Given the description of an element on the screen output the (x, y) to click on. 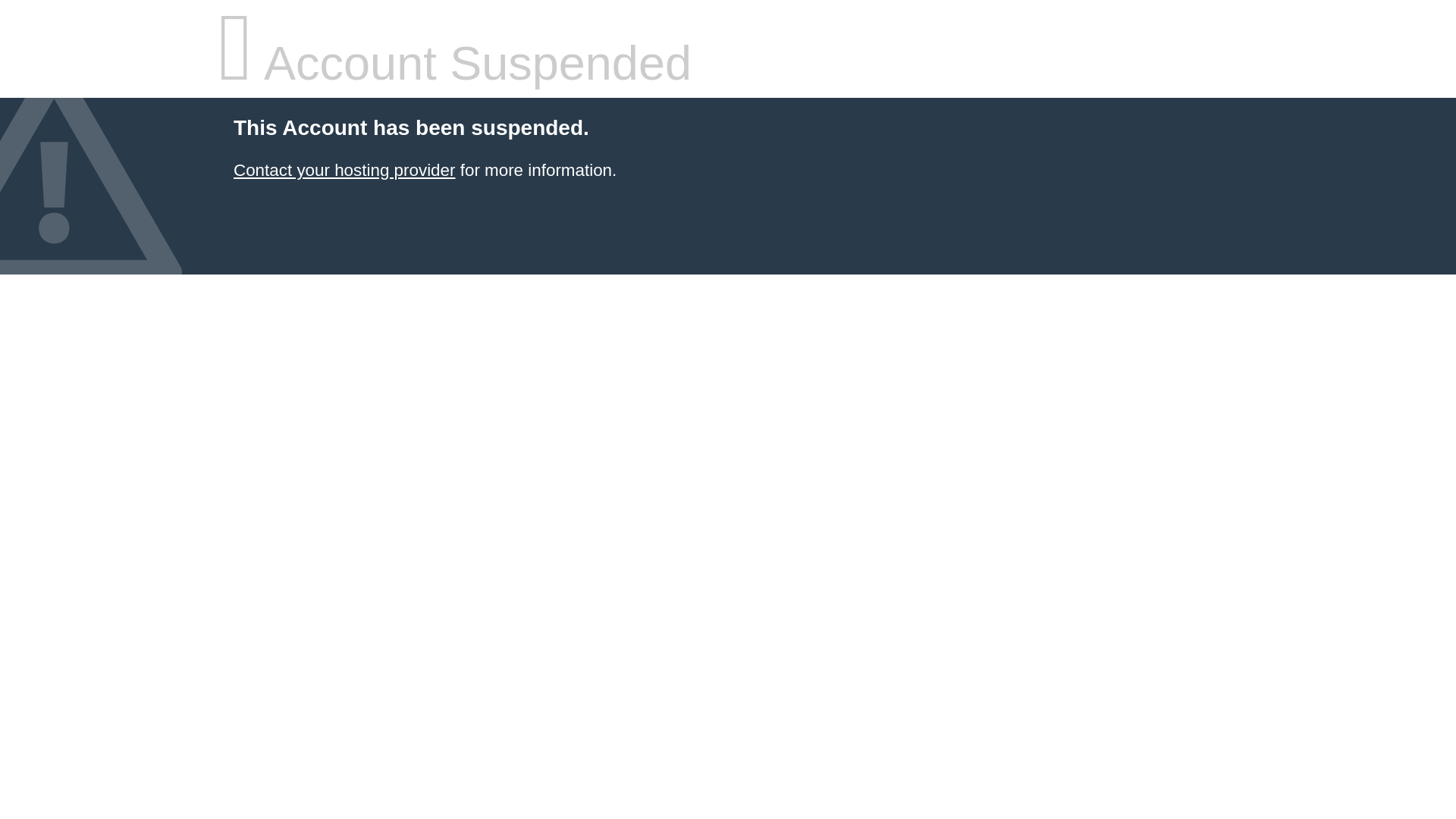
Contact your hosting provider (343, 169)
